Given the description of an element on the screen output the (x, y) to click on. 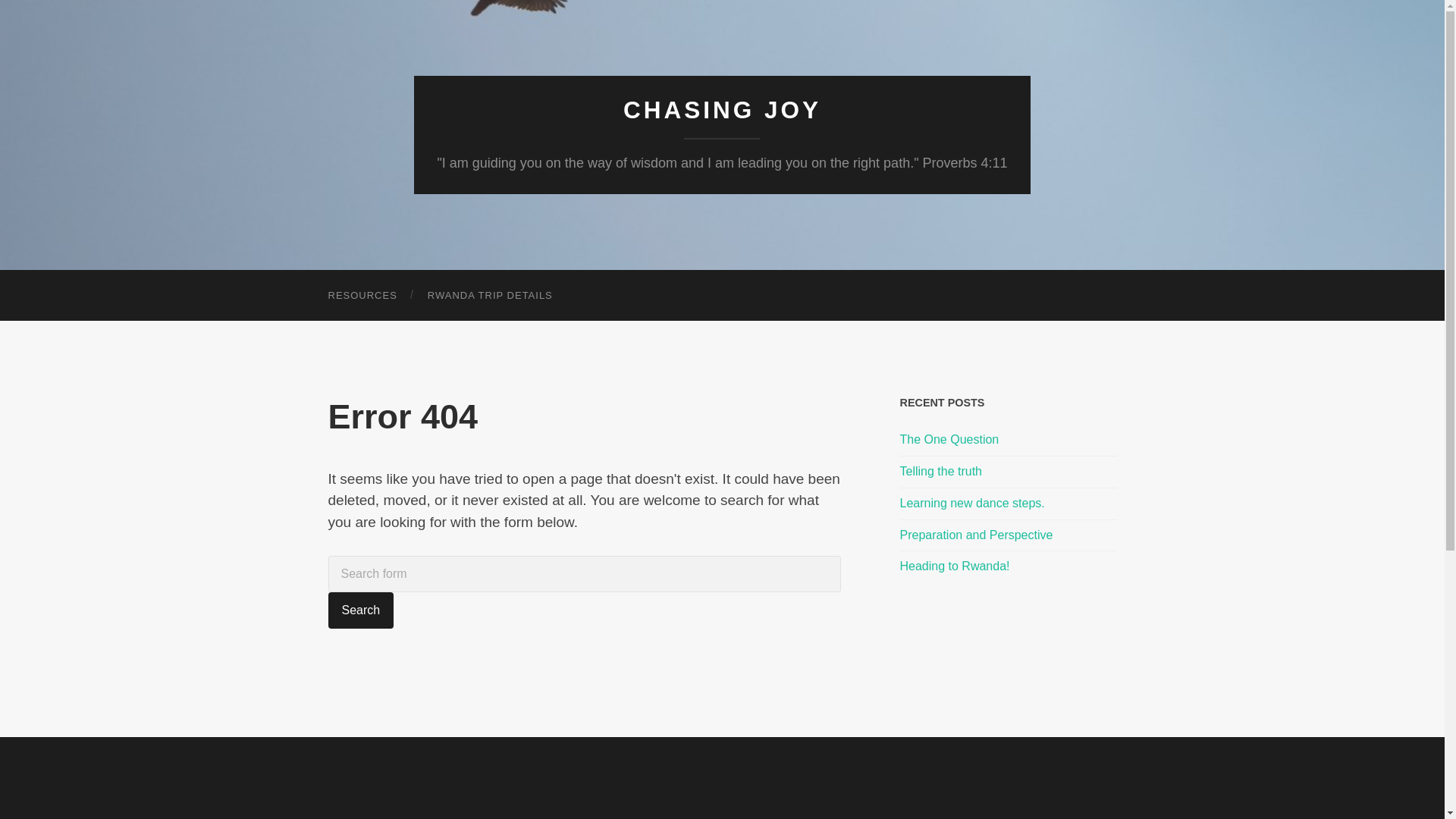
Search (360, 610)
CHASING JOY (722, 109)
RWANDA TRIP DETAILS (489, 295)
Telling the truth (1007, 471)
Preparation and Perspective (1007, 535)
Learning new dance steps. (1007, 503)
Search (360, 610)
RESOURCES (362, 295)
The One Question (1007, 439)
Heading to Rwanda! (1007, 566)
